Given the description of an element on the screen output the (x, y) to click on. 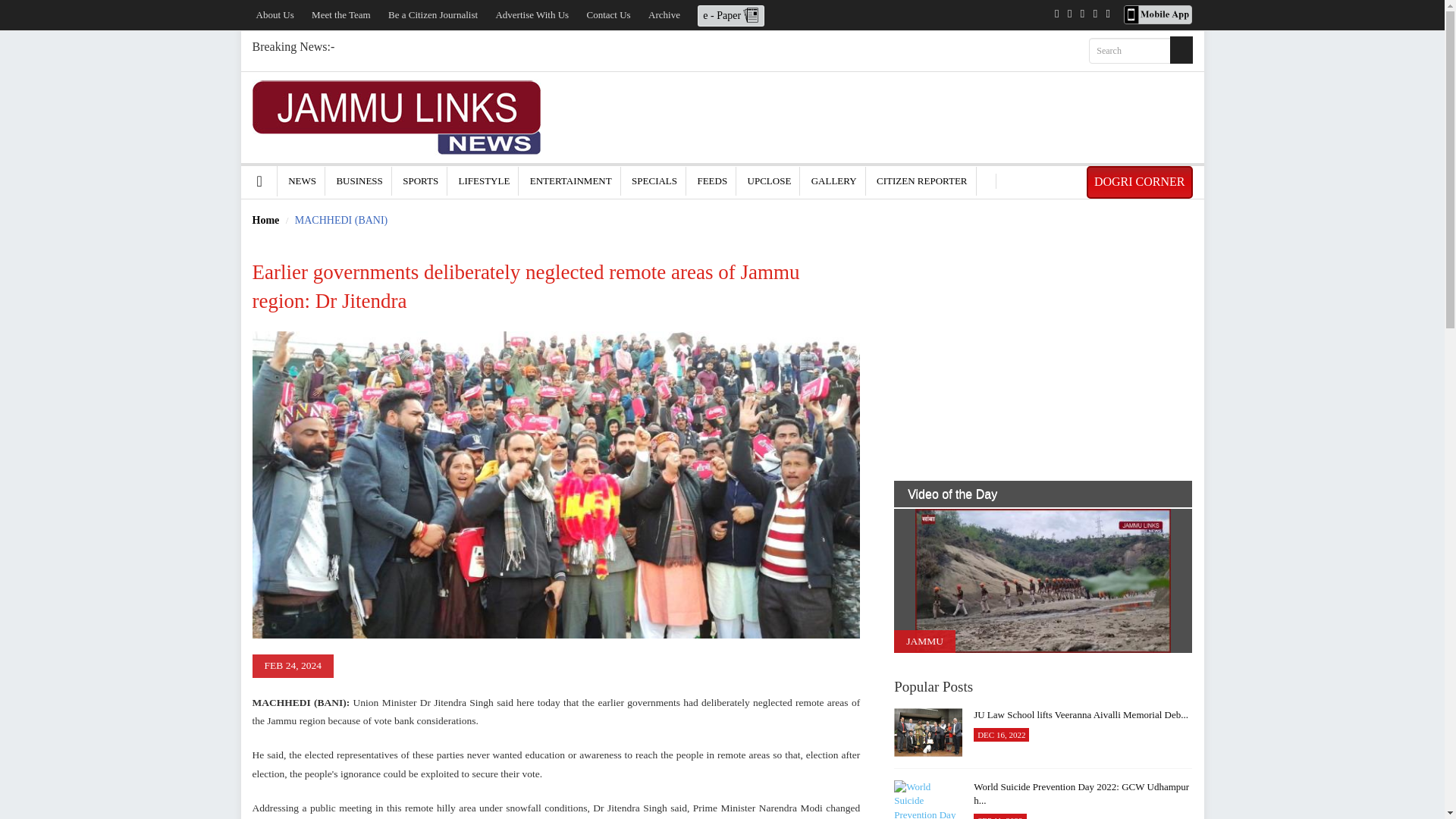
Meet the Team (341, 14)
Advertise With Us (532, 14)
Be a Citizen Journalist (432, 14)
e - Paper (730, 15)
World Suicide Prevention Day 2022: GCW Udhampur h... (927, 799)
SPORTS (420, 180)
e - Paper (730, 14)
NEWS (301, 180)
Archive (663, 14)
